Given the description of an element on the screen output the (x, y) to click on. 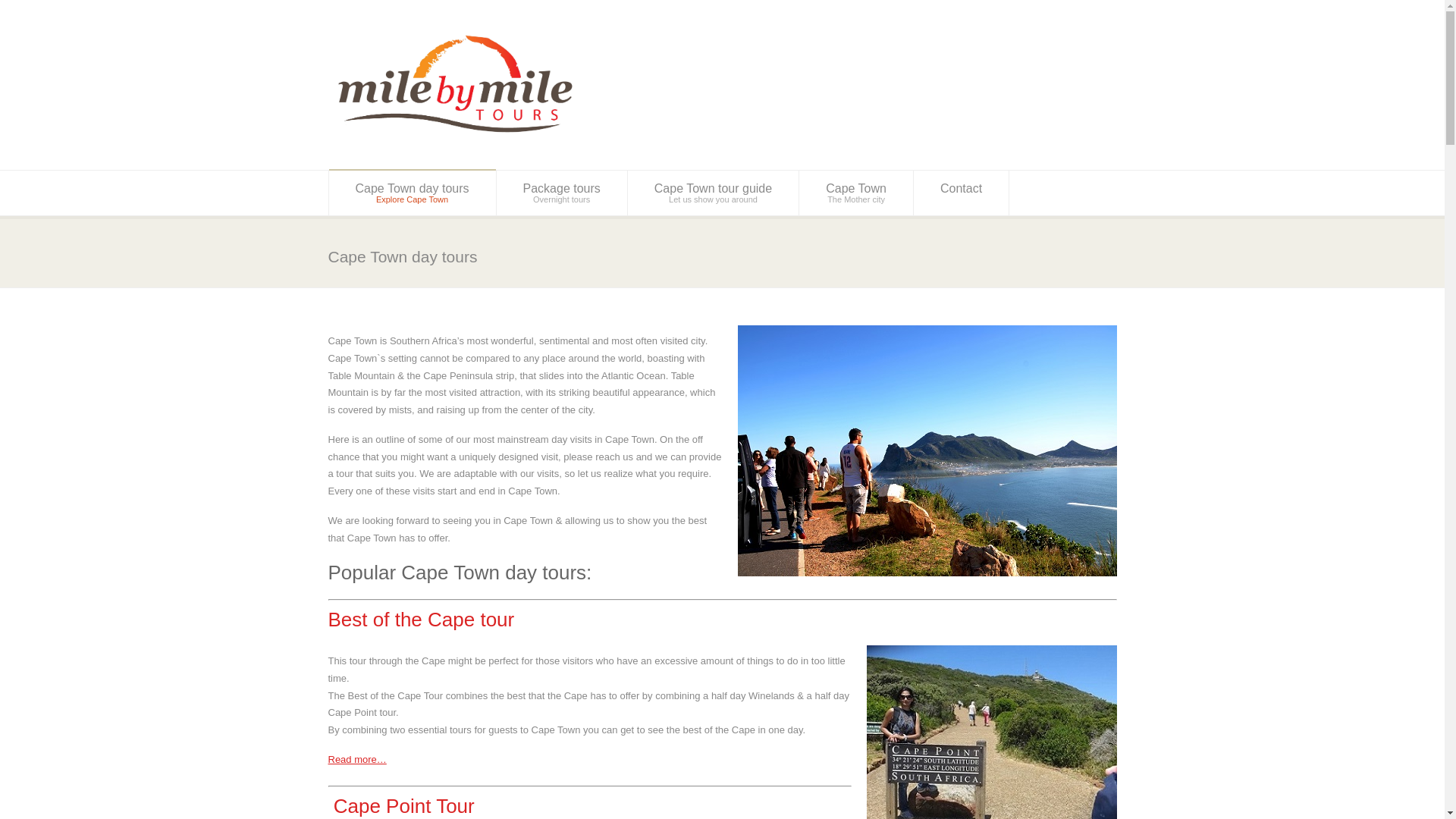
Cape Point Tour (412, 192)
Best of the Cape tour (403, 805)
Mile by Mile tours Cape Town (712, 192)
